Given the description of an element on the screen output the (x, y) to click on. 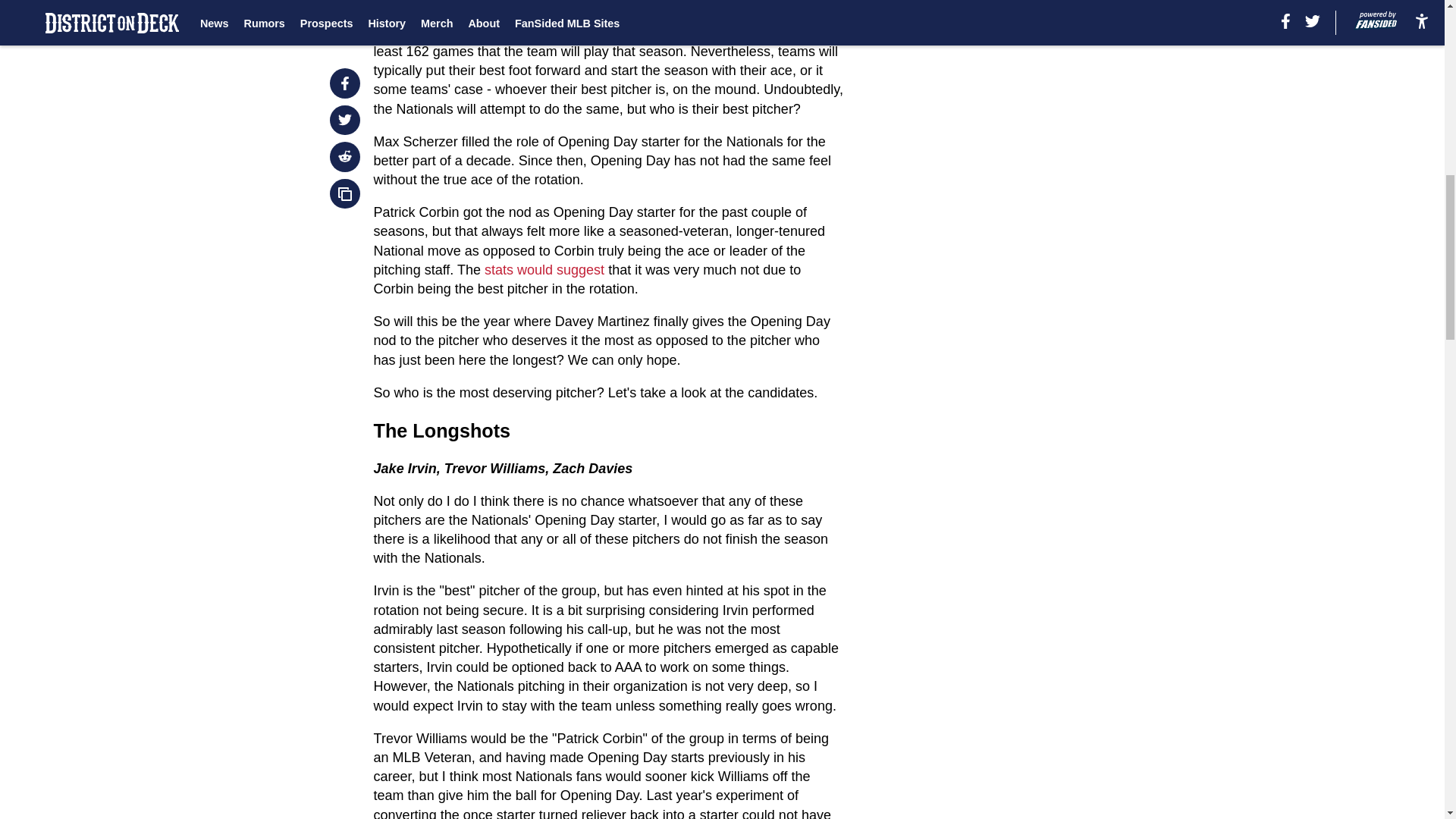
Next (426, 4)
Next (388, 3)
stats would suggest (544, 269)
